Given the description of an element on the screen output the (x, y) to click on. 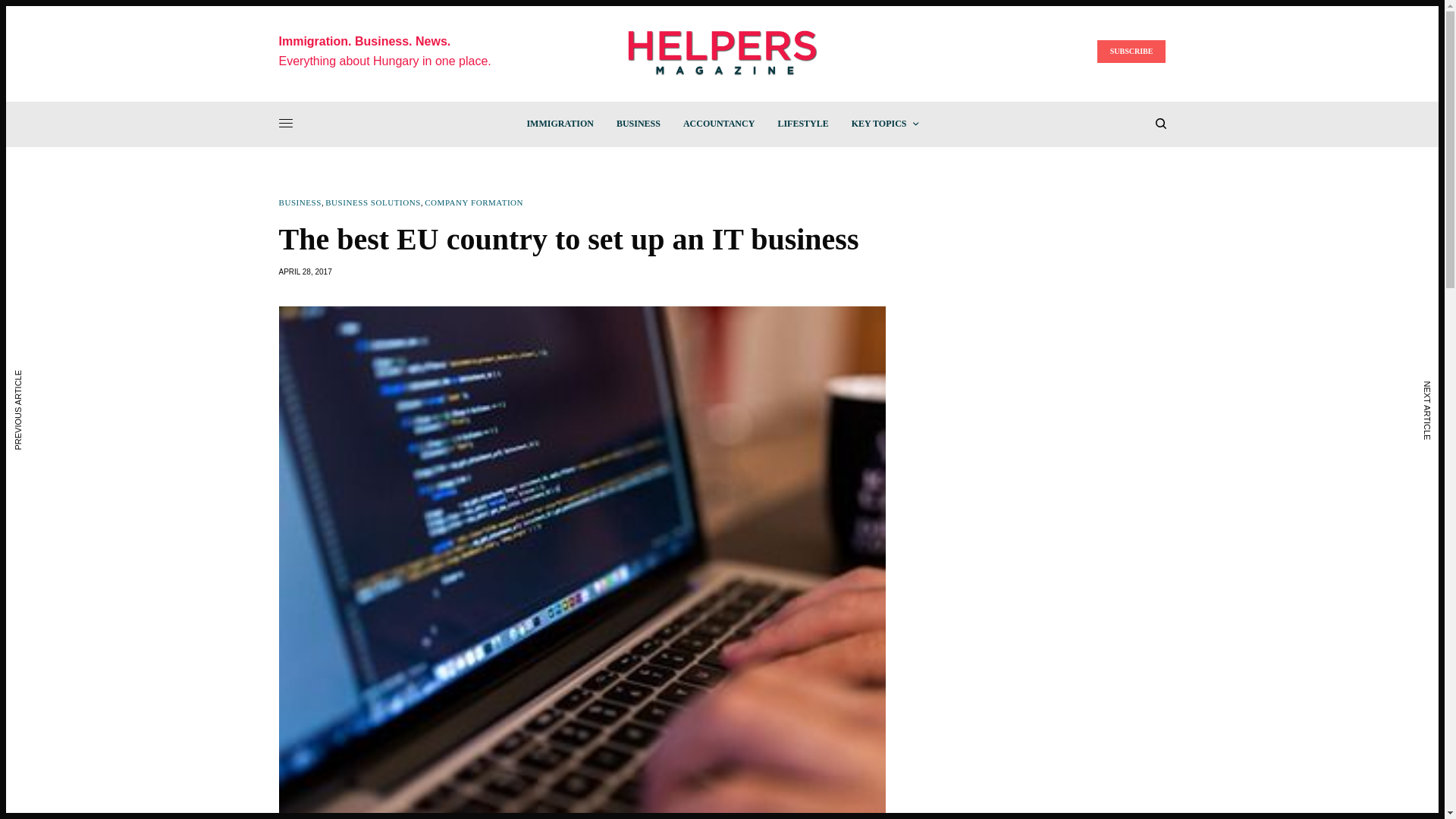
IMMIGRATION (558, 123)
SUBSCRIBE (1131, 51)
BUSINESS (300, 203)
KEY TOPICS (884, 123)
ACCOUNTANCY (718, 123)
COMPANY FORMATION (473, 203)
Helpers Magazine (722, 51)
BUSINESS (638, 123)
LIFESTYLE (802, 123)
BUSINESS SOLUTIONS (372, 203)
